Given the description of an element on the screen output the (x, y) to click on. 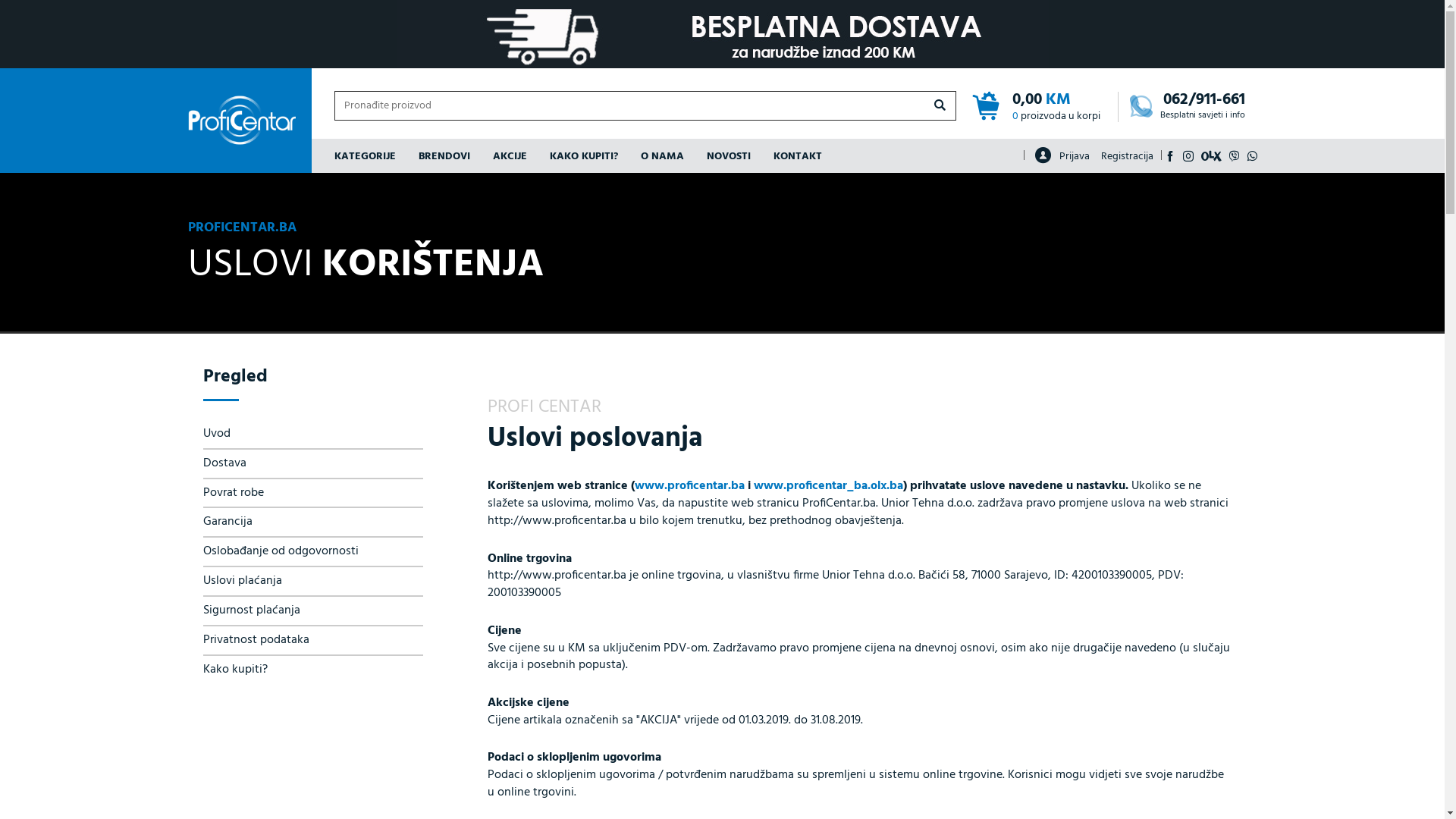
Uvod Element type: text (313, 434)
www.proficentar_ba.olx.ba Element type: text (828, 485)
Dostava Element type: text (313, 463)
Garancija Element type: text (313, 521)
KONTAKT Element type: text (796, 156)
Povrat robe Element type: text (313, 493)
Prijava Element type: text (1062, 155)
Privatnost podataka Element type: text (313, 640)
0,00 KM
0 proizvoda u korpi Element type: text (1043, 107)
Registracija Element type: text (1131, 156)
BRENDOVI Element type: text (443, 156)
www.proficentar.ba Element type: text (688, 485)
Kako kupiti? Element type: text (313, 669)
AKCIJE Element type: text (508, 156)
KAKO KUPITI? Element type: text (583, 156)
O NAMA Element type: text (662, 156)
KATEGORIJE Element type: text (369, 156)
NOVOSTI Element type: text (727, 156)
